Given the description of an element on the screen output the (x, y) to click on. 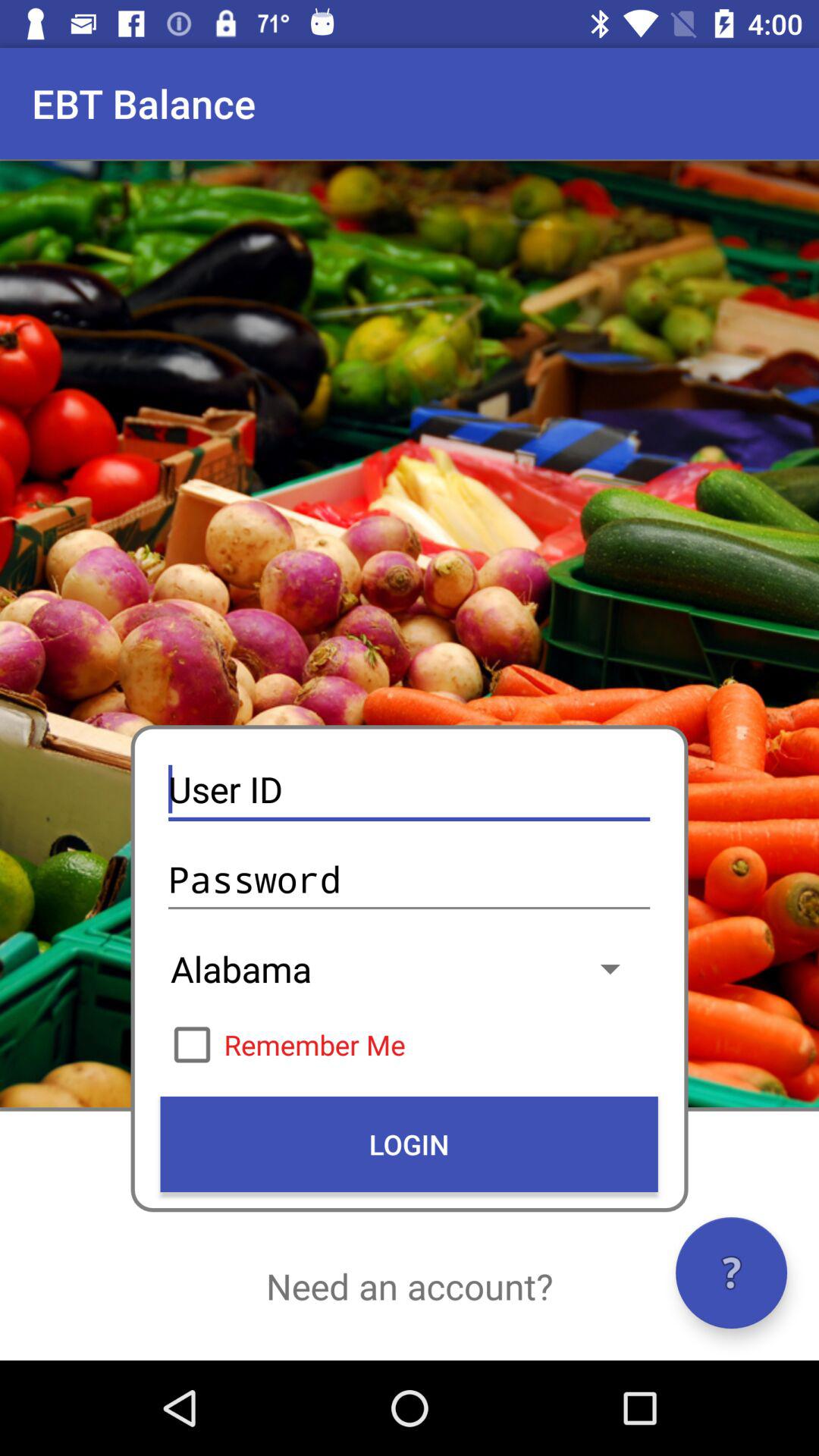
select icon below alabama item (409, 1044)
